Given the description of an element on the screen output the (x, y) to click on. 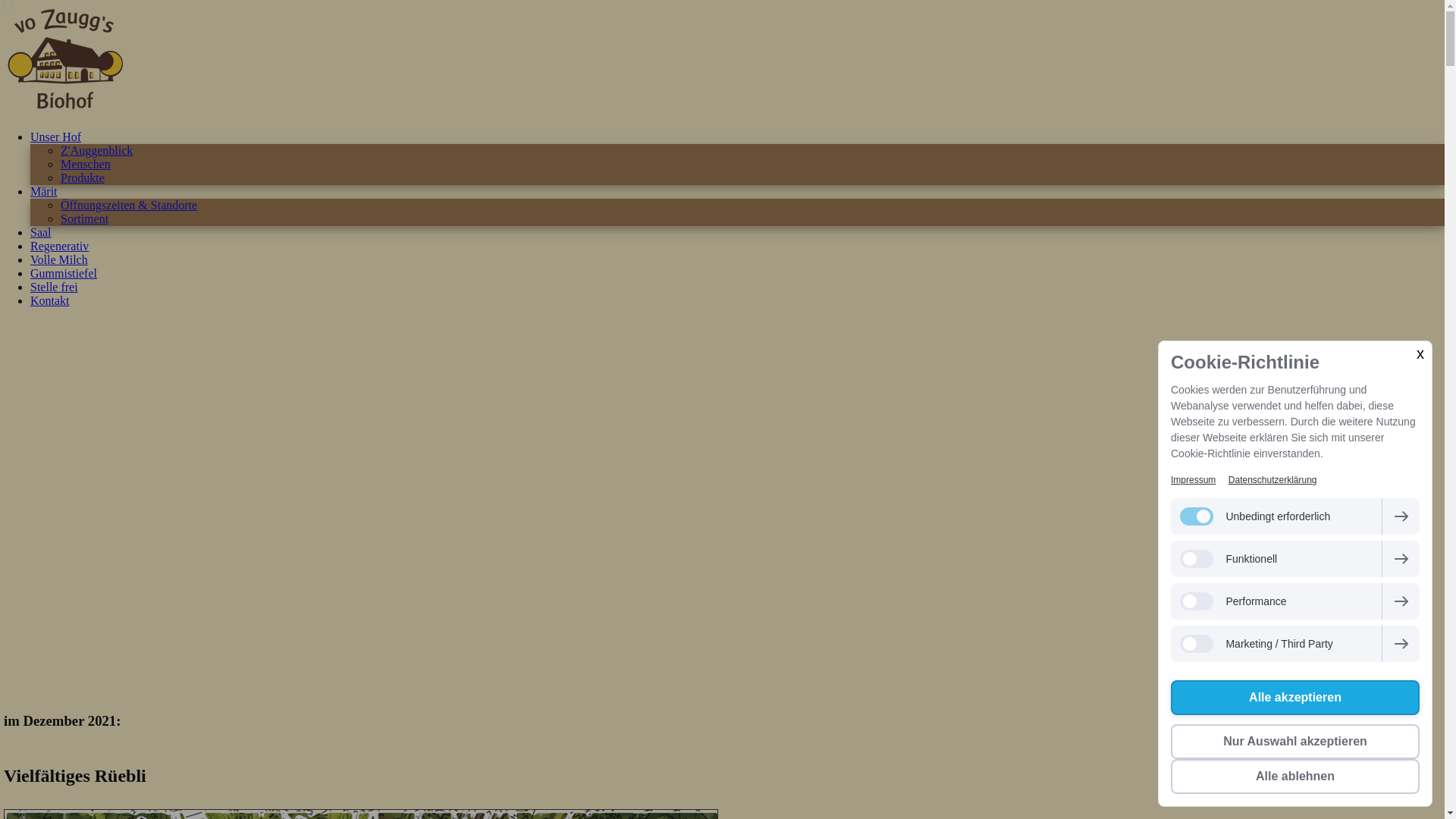
Saal Element type: text (40, 231)
Alle akzeptieren Element type: text (1294, 697)
Z'Auggenblick Element type: text (96, 150)
Nur Auswahl akzeptieren Element type: text (1294, 741)
Gummistiefel Element type: text (63, 272)
Regenerativ Element type: text (59, 245)
Sortiment Element type: text (84, 218)
Kontakt Element type: text (49, 300)
Volle Milch Element type: text (58, 259)
Menschen Element type: text (85, 163)
Produkte Element type: text (82, 177)
Alle ablehnen Element type: text (1294, 776)
Stelle frei Element type: text (54, 286)
Impressum Element type: text (1192, 479)
Unser Hof Element type: text (55, 136)
